Given the description of an element on the screen output the (x, y) to click on. 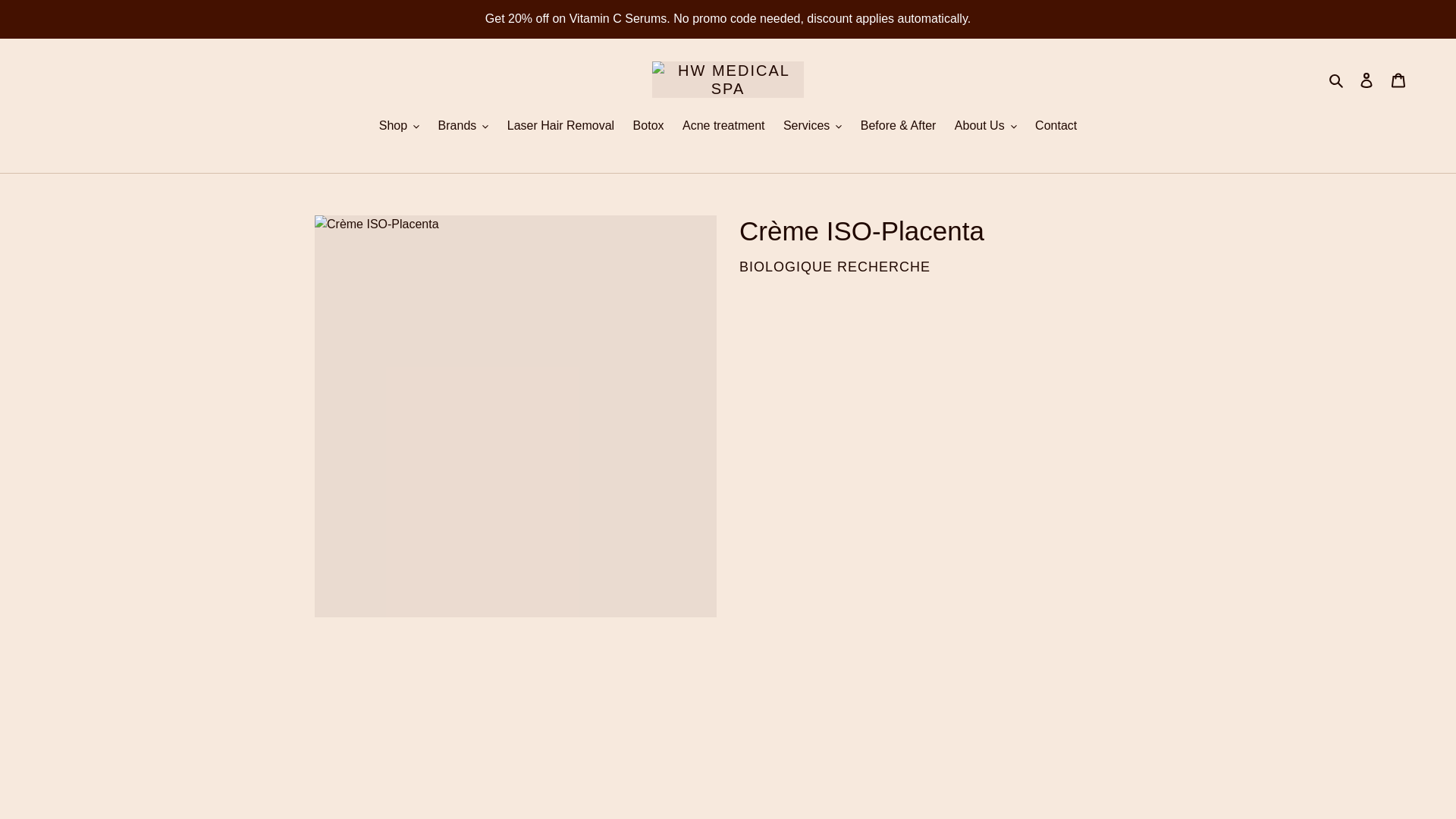
Log in (1366, 79)
Search (1337, 79)
Cart (1397, 79)
